Given the description of an element on the screen output the (x, y) to click on. 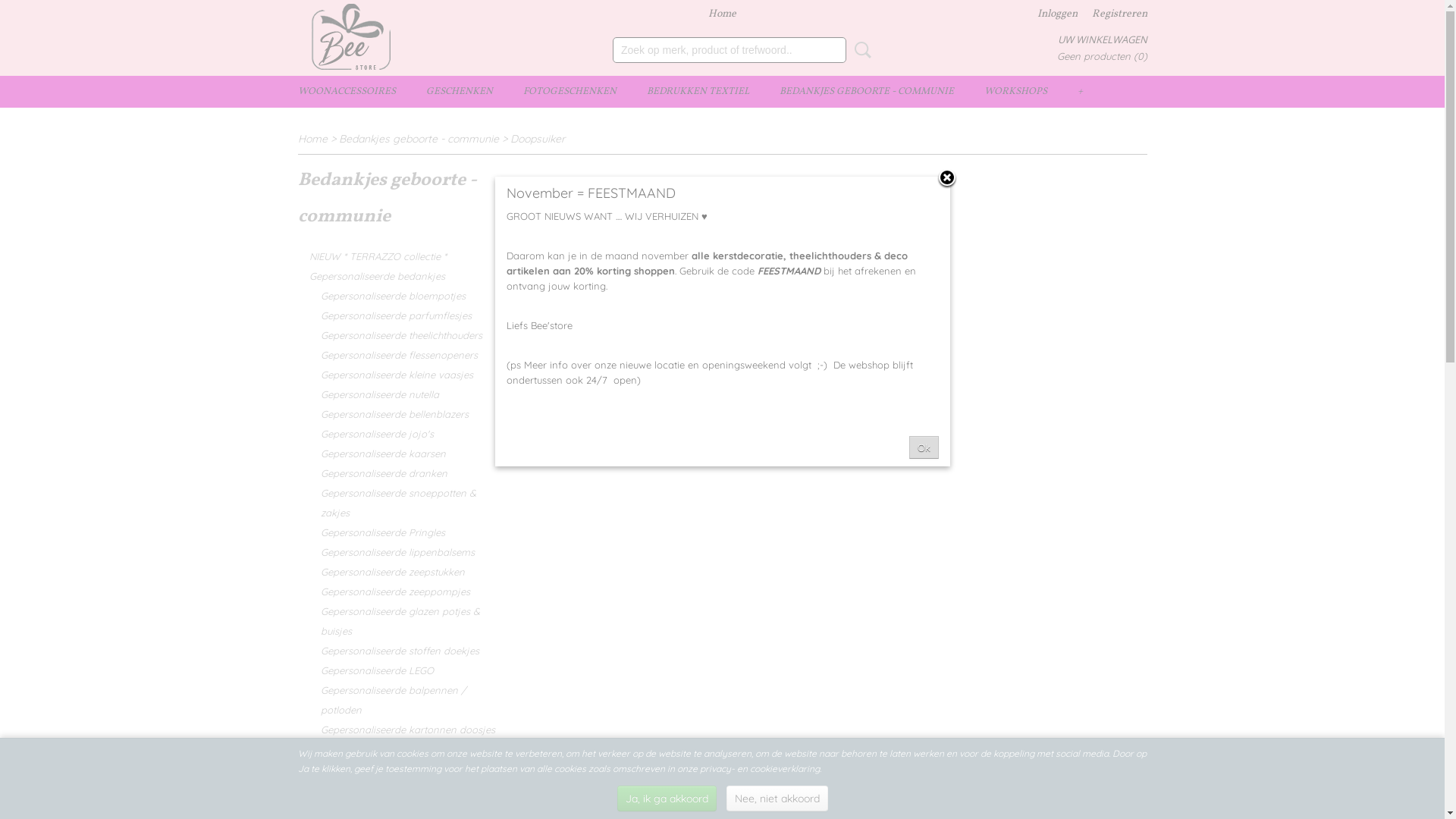
Gepersonaliseerde kartonnen doosjes Element type: text (397, 729)
Ja, ik ga akkoord Element type: text (666, 798)
Zoeken Element type: text (859, 49)
Gepersonaliseerde jojo's Element type: text (397, 433)
UW WINKELWAGEN Element type: text (1101, 39)
Gepersonaliseerde lippenbalsems Element type: text (397, 551)
Gepersonaliseerde zeeppompjes Element type: text (397, 591)
WOONACCESSOIRES Element type: text (346, 91)
Ok Element type: text (923, 447)
Gepersonaliseerde bloempotjes Element type: text (397, 295)
Gepersonaliseerde flessenopeners Element type: text (397, 354)
Home Element type: text (722, 13)
Gepersonaliseerde theelichthouders Element type: text (397, 335)
Gepersonaliseerde dranken Element type: text (397, 473)
Gepersonaliseerde kaarsen Element type: text (397, 453)
Gepersonaliseerde balpennen / potloden Element type: text (397, 699)
Bedankjes geboorte - communie Element type: text (418, 138)
BEDANKJES GEBOORTE - COMMUNIE Element type: text (866, 91)
Gepersonaliseerde bedankjes Element type: text (397, 275)
LEGO bedankjes Element type: text (397, 768)
Gepersonaliseerde parfumflesjes Element type: text (397, 315)
Gepersonaliseerde zeepstukken Element type: text (397, 571)
GESCHENKEN Element type: text (459, 91)
FOTOGESCHENKEN Element type: text (569, 91)
Registreren Element type: text (1119, 13)
WORKSHOPS Element type: text (1015, 91)
Bedankjes met lasergravure Element type: text (397, 788)
Gepersonaliseerde Pringles Element type: text (397, 532)
Gepersonaliseerde kleine vaasjes Element type: text (397, 374)
Inloggen Element type: text (1057, 13)
Gepersonaliseerde snoeppotten & zakjes Element type: text (397, 502)
+ Element type: text (1079, 91)
BEDRUKKEN TEXTIEL Element type: text (696, 91)
Gepersonaliseerde blikkendoosjes Element type: text (397, 749)
NIEUW * TERRAZZO collectie * Element type: text (397, 256)
Gepersonaliseerde glazen potjes & buisjes Element type: text (397, 620)
Doopsuiker Element type: text (536, 138)
Gepersonaliseerde nutella Element type: text (397, 394)
Home Element type: text (311, 138)
Gepersonaliseerde bellenblazers Element type: text (397, 413)
Nee, niet akkoord Element type: text (777, 798)
Gepersonaliseerde LEGO Element type: text (397, 670)
Gepersonaliseerde stoffen doekjes Element type: text (397, 650)
Volgens thema of hobby Element type: text (397, 808)
